Given the description of an element on the screen output the (x, y) to click on. 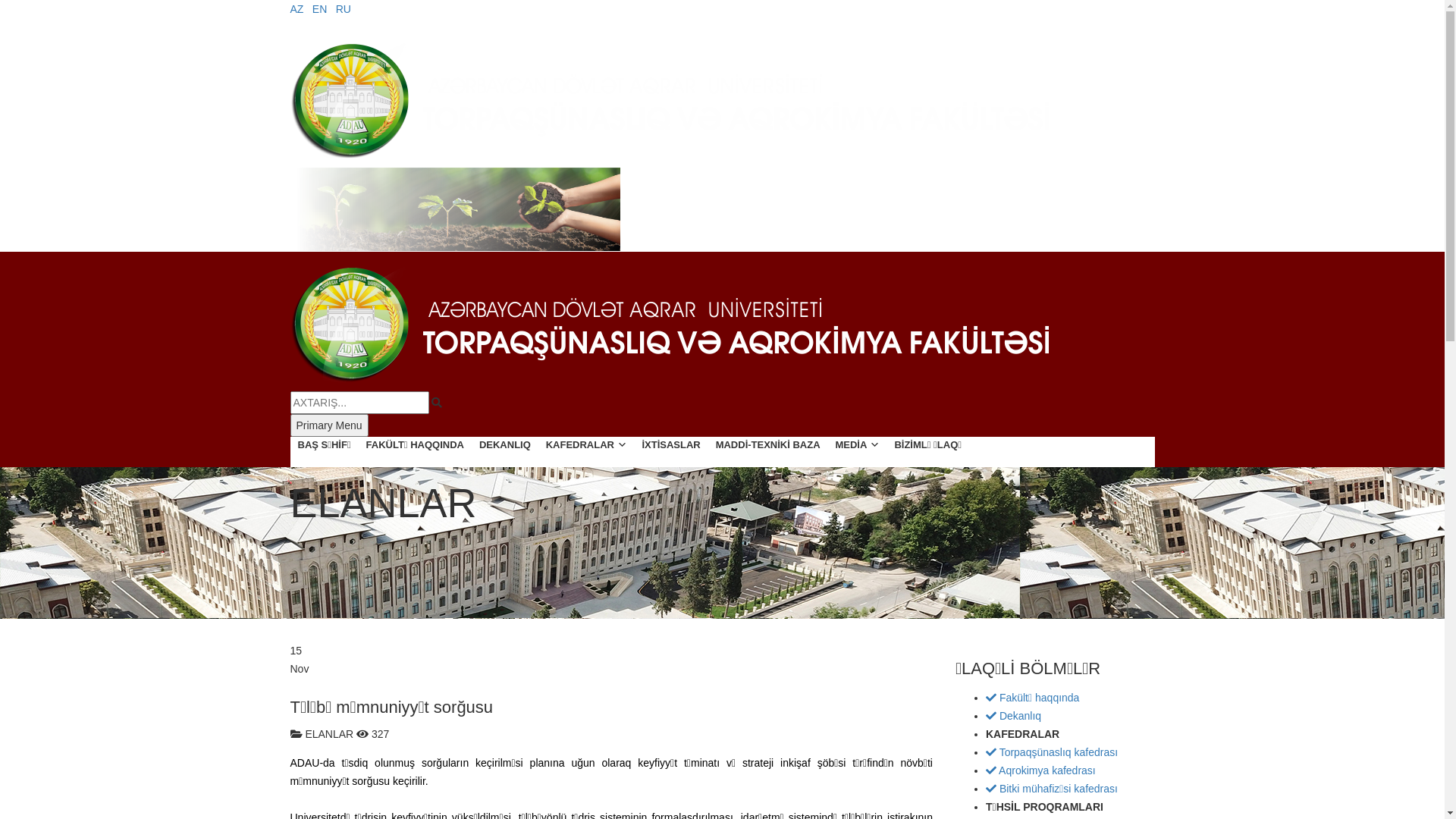
DEKANLIQ Element type: text (500, 451)
AZ Element type: text (297, 9)
Skip to content Element type: text (0, 0)
Primary Menu Element type: text (328, 425)
RU Element type: text (343, 9)
EN Element type: text (320, 9)
KAFEDRALAR Element type: text (582, 451)
